Given the description of an element on the screen output the (x, y) to click on. 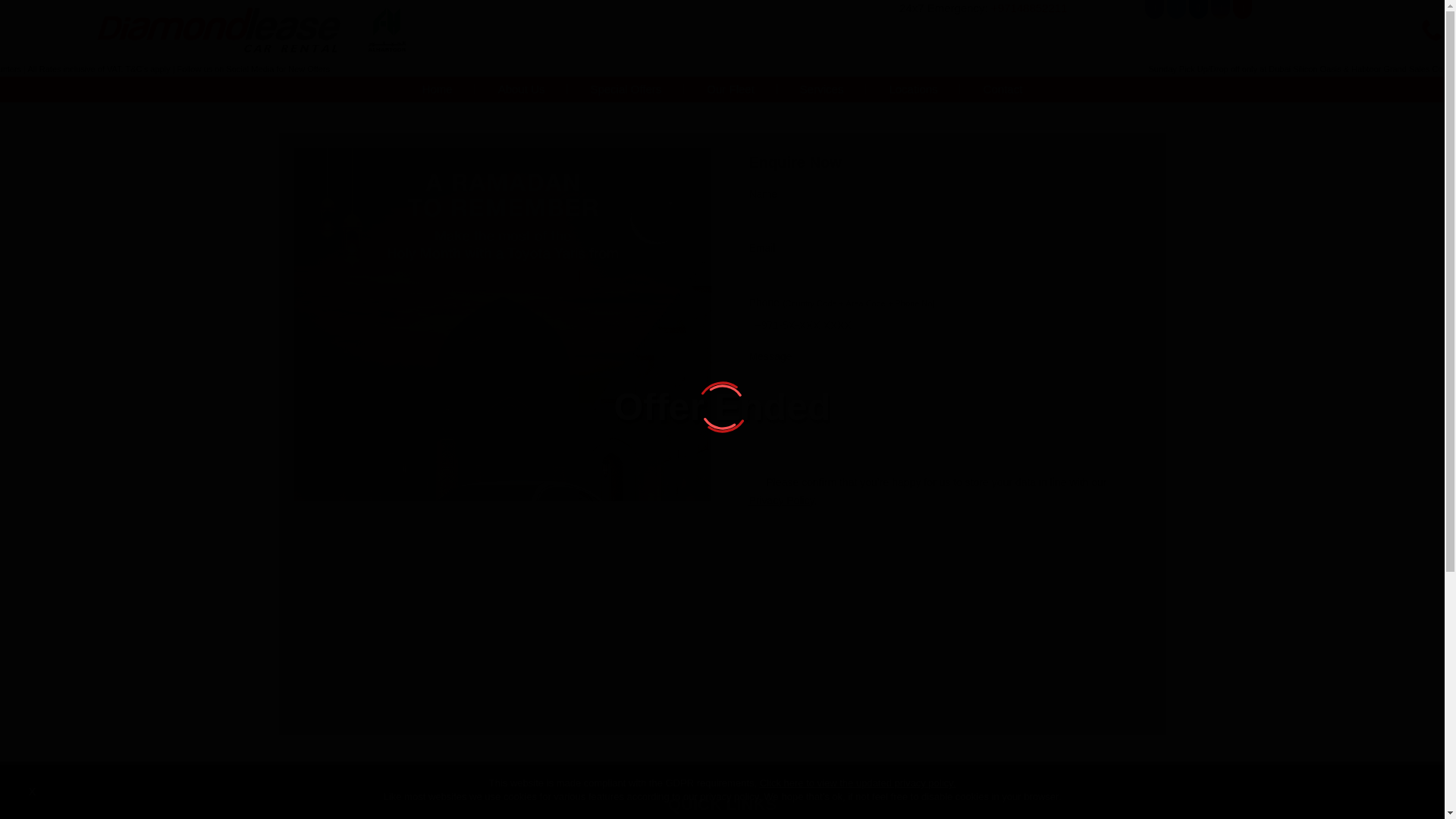
on (753, 482)
Home (437, 89)
Special Offers (625, 89)
About Us (520, 89)
Services (821, 89)
Our Fleet (730, 89)
Contact (1003, 89)
Send (1088, 537)
Send (1088, 537)
Locations (912, 89)
